Given the description of an element on the screen output the (x, y) to click on. 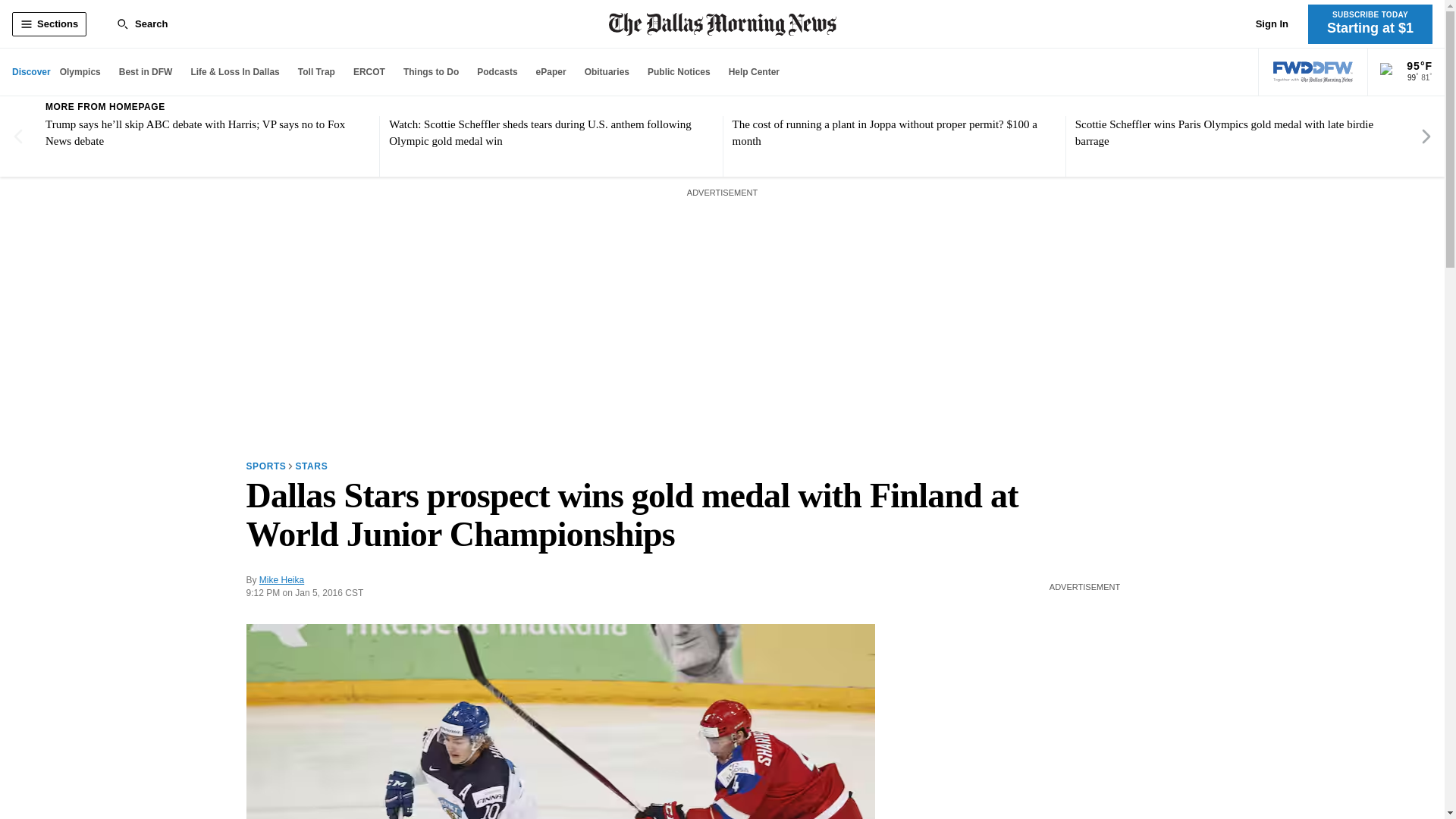
Clear sky (1389, 72)
FWD DFW, Together with The Dallas Morning News (1313, 72)
